Given the description of an element on the screen output the (x, y) to click on. 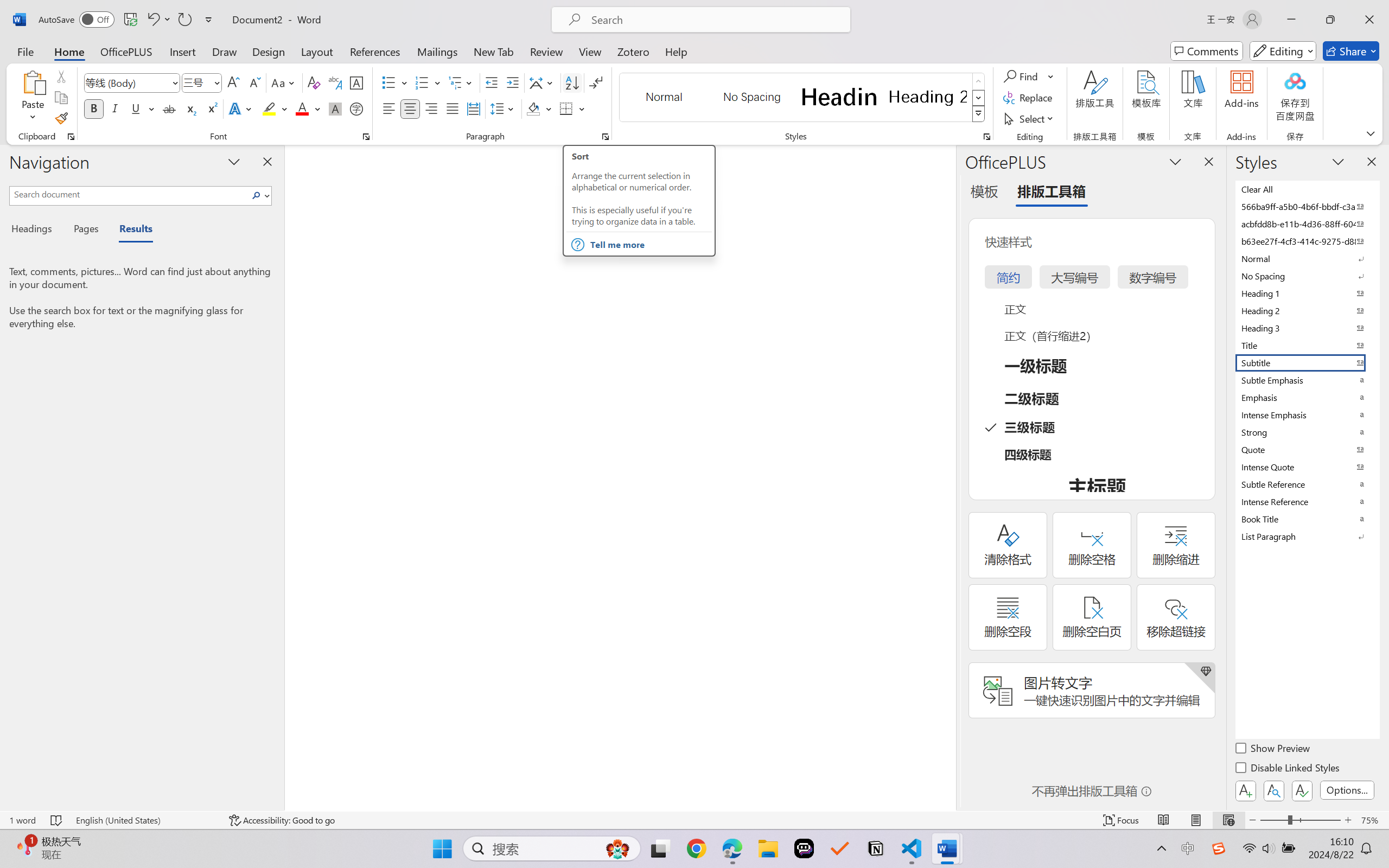
References (375, 51)
Paragraph... (605, 136)
Undo Style (158, 19)
Multilevel List (461, 82)
Book Title (1306, 518)
Zoom (1300, 819)
Show Preview (1273, 749)
Distributed (473, 108)
Find (1029, 75)
